Given the description of an element on the screen output the (x, y) to click on. 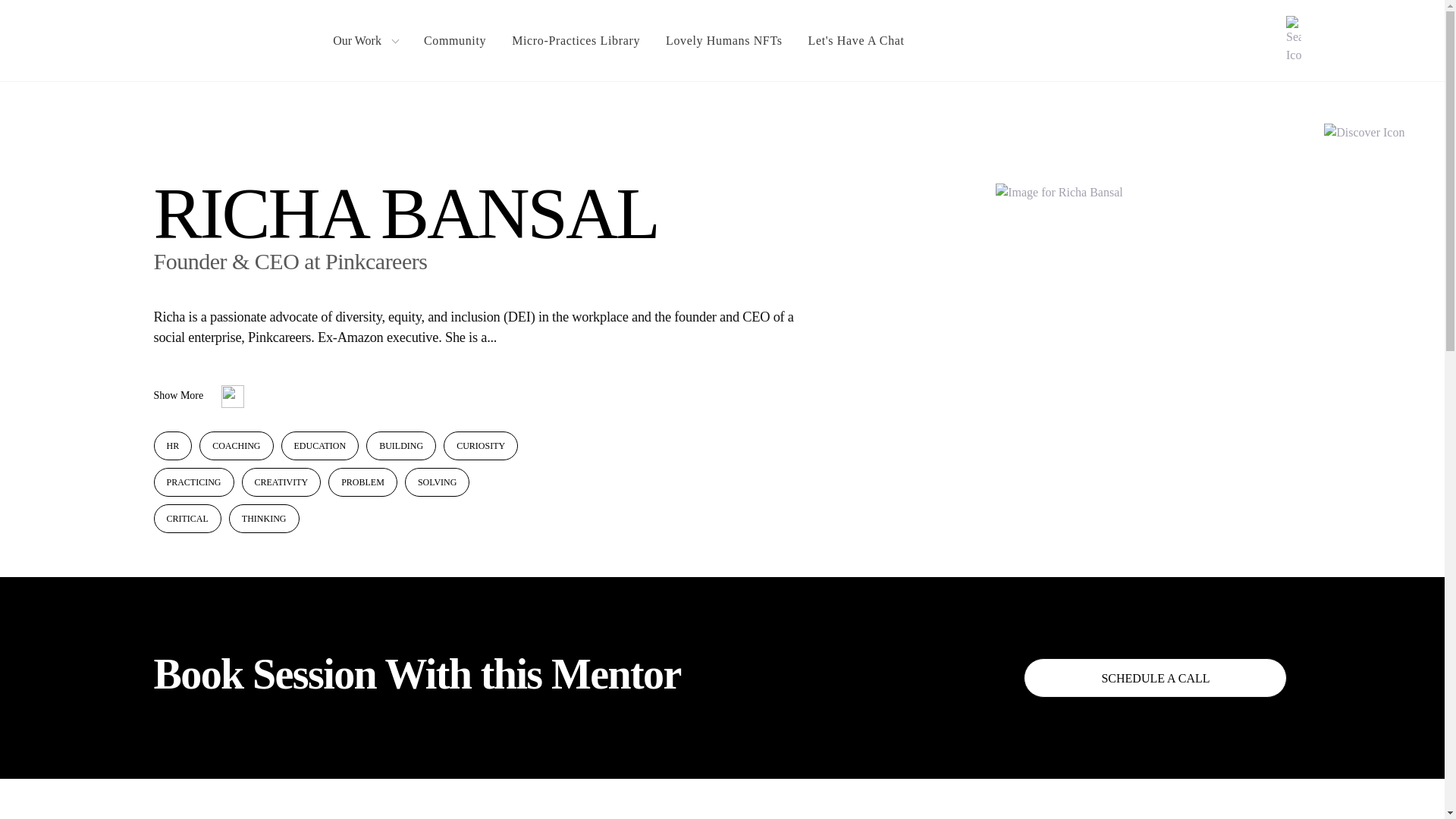
Community (454, 40)
Our Work (365, 40)
Micro-Practices Library (575, 40)
Let's Have A Chat (855, 40)
Lovely Humans NFTs (723, 40)
SCHEDULE A CALL (1155, 677)
Show More (198, 396)
